Given the description of an element on the screen output the (x, y) to click on. 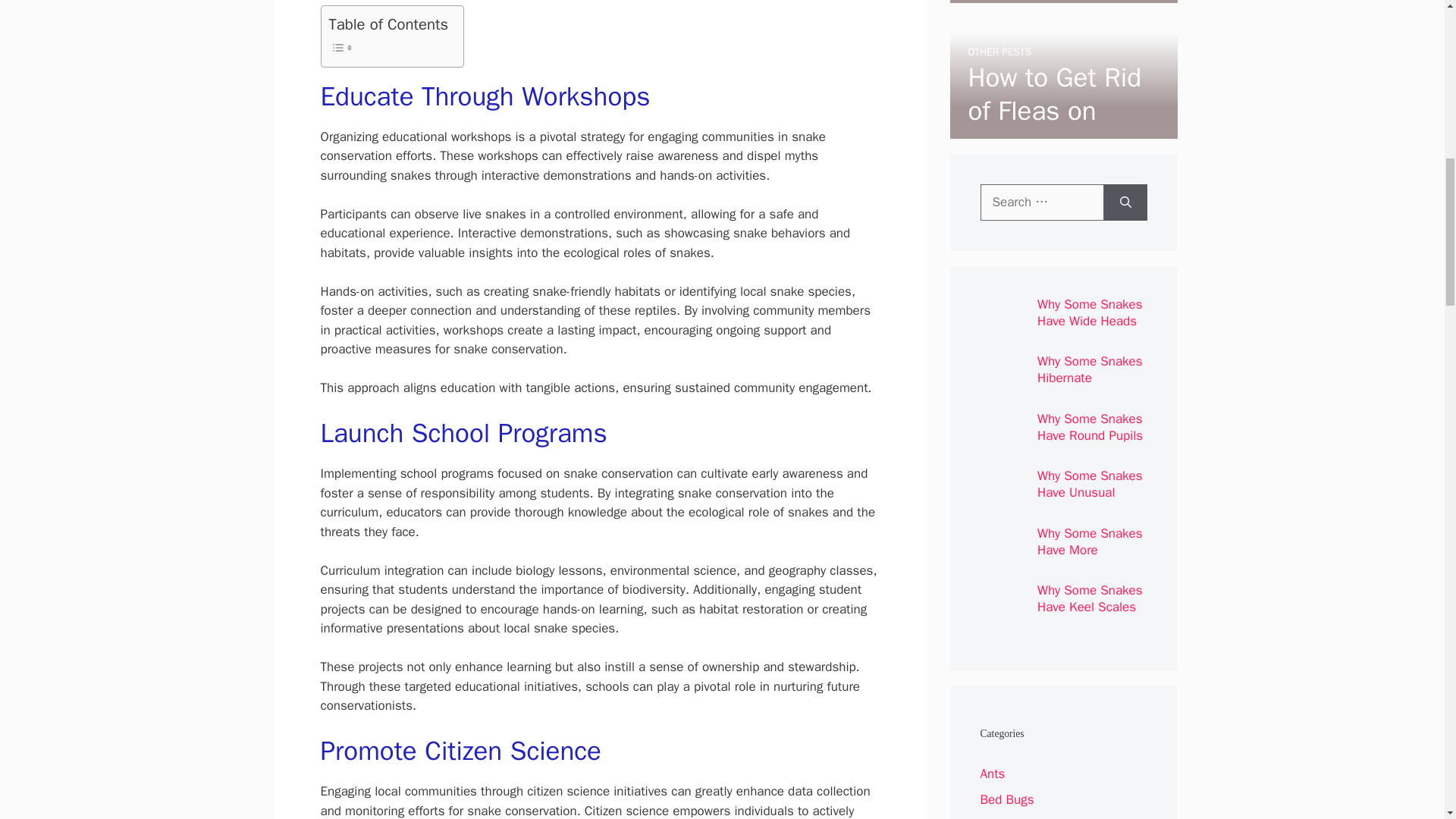
Why Some Snakes Have Wide Heads (1089, 312)
How To Participate In Snake Conservation Projects (1043, 46)
OTHER PESTS (999, 51)
How to Get Rid of Fleas on Dogs With Baking Soda (1054, 127)
